Given the description of an element on the screen output the (x, y) to click on. 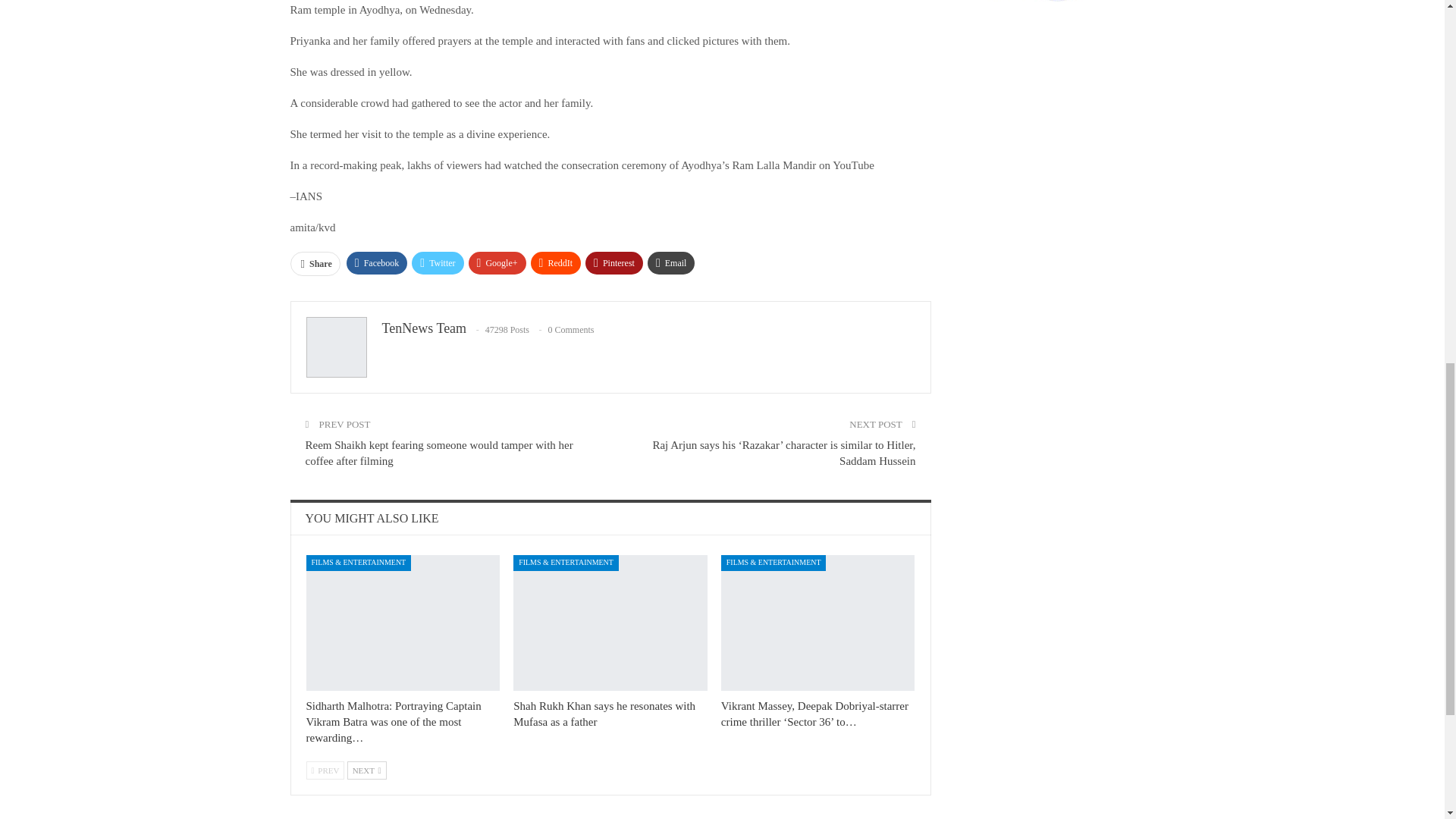
Next (367, 770)
Shah Rukh Khan says he resonates with Mufasa as a father (610, 623)
Previous (325, 770)
Facebook (376, 262)
Twitter (437, 262)
ReddIt (555, 262)
Shah Rukh Khan says he resonates with Mufasa as a father (604, 714)
